Given the description of an element on the screen output the (x, y) to click on. 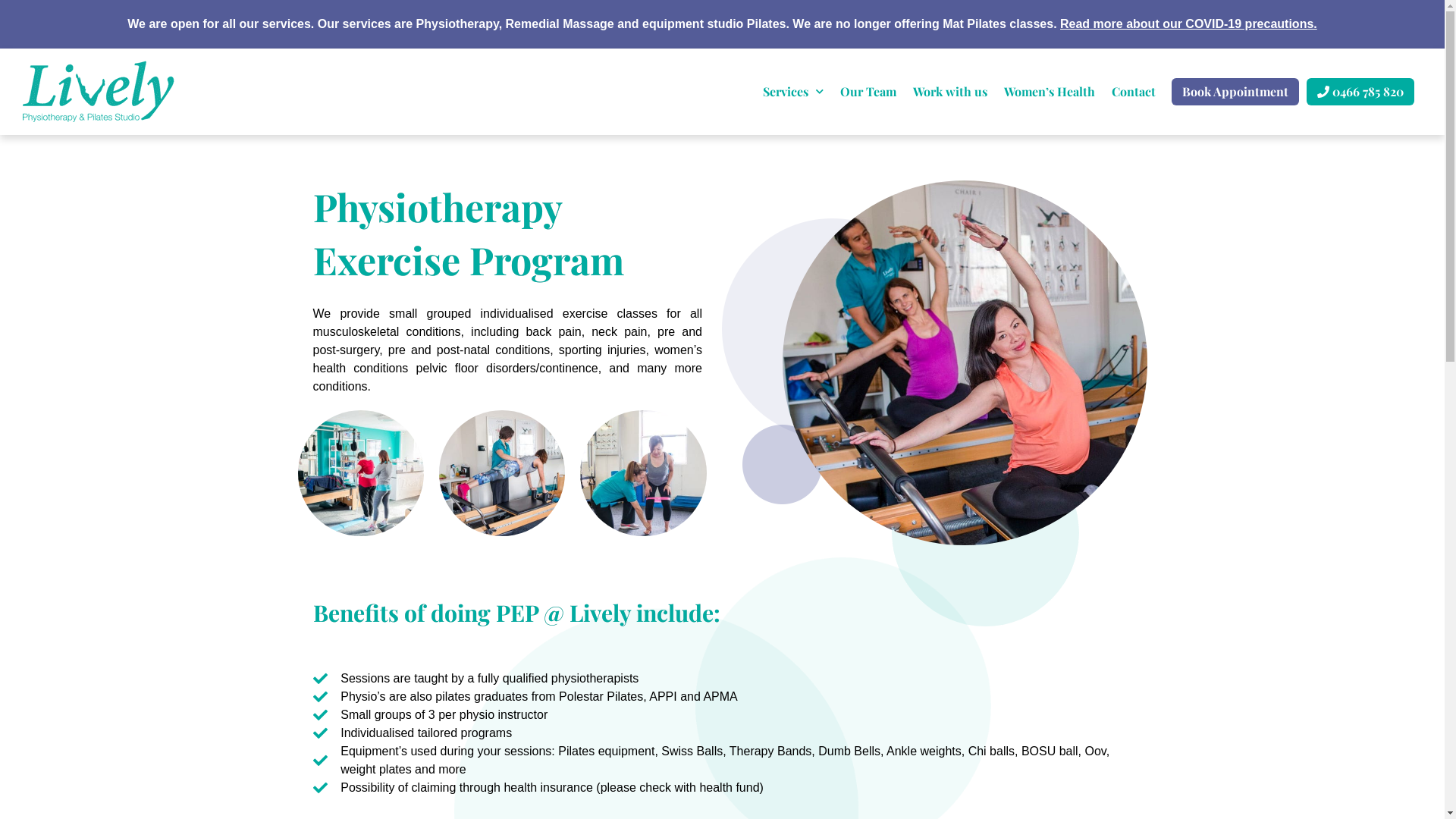
Work with us Element type: text (949, 91)
Our Team Element type: text (867, 91)
Read more about our COVID-19 precautions. Element type: text (1188, 23)
Book Appointment Element type: text (1235, 91)
Contact Element type: text (1133, 91)
0466 785 820 Element type: text (1360, 91)
Services Element type: text (792, 91)
